Given the description of an element on the screen output the (x, y) to click on. 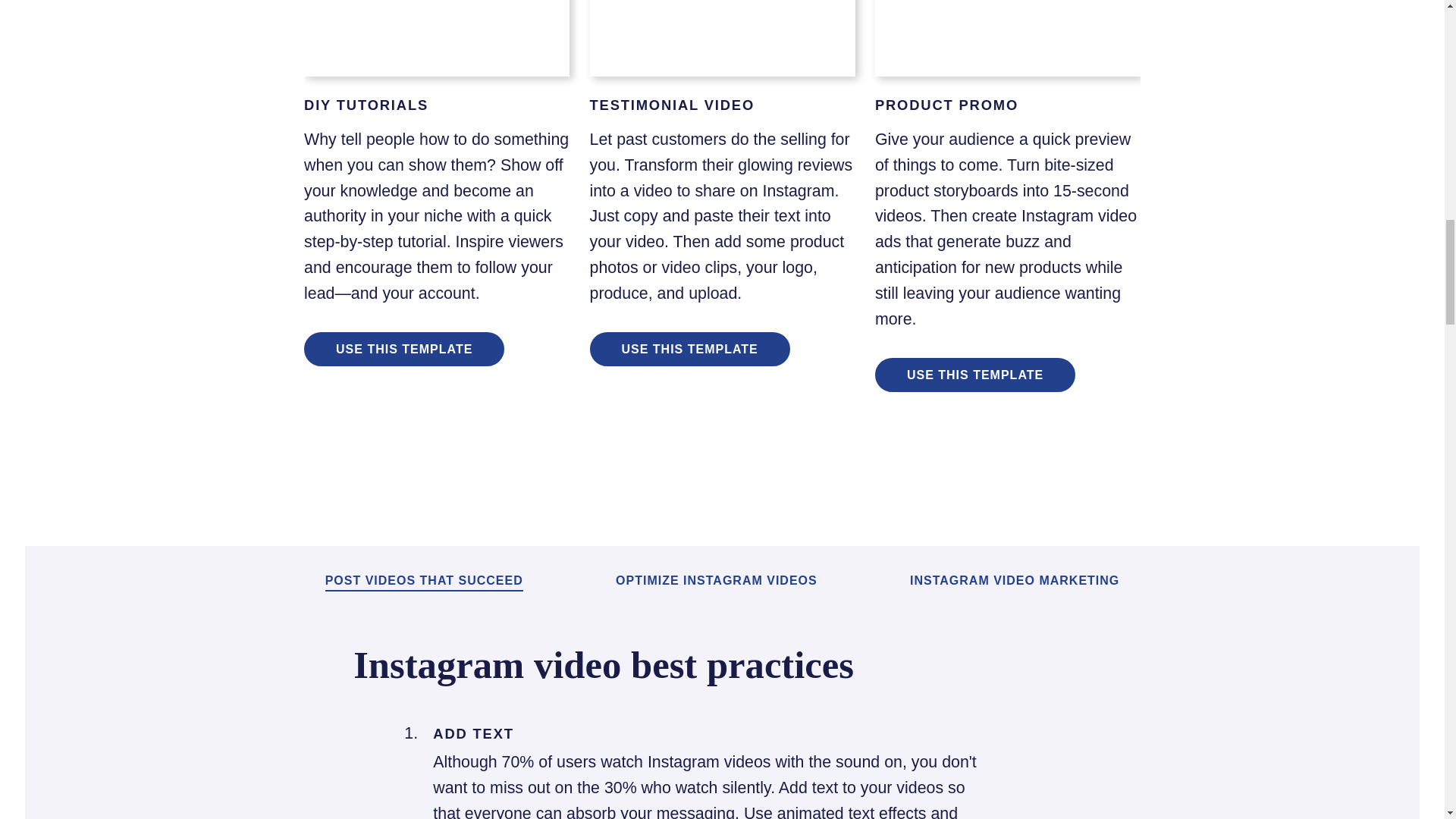
OPTIMIZE INSTAGRAM VIDEOS (715, 580)
USE THIS TEMPLATE (403, 349)
USE THIS TEMPLATE (689, 349)
USE THIS TEMPLATE (975, 374)
POST VIDEOS THAT SUCCEED (423, 582)
INSTAGRAM VIDEO MARKETING (1014, 580)
